Given the description of an element on the screen output the (x, y) to click on. 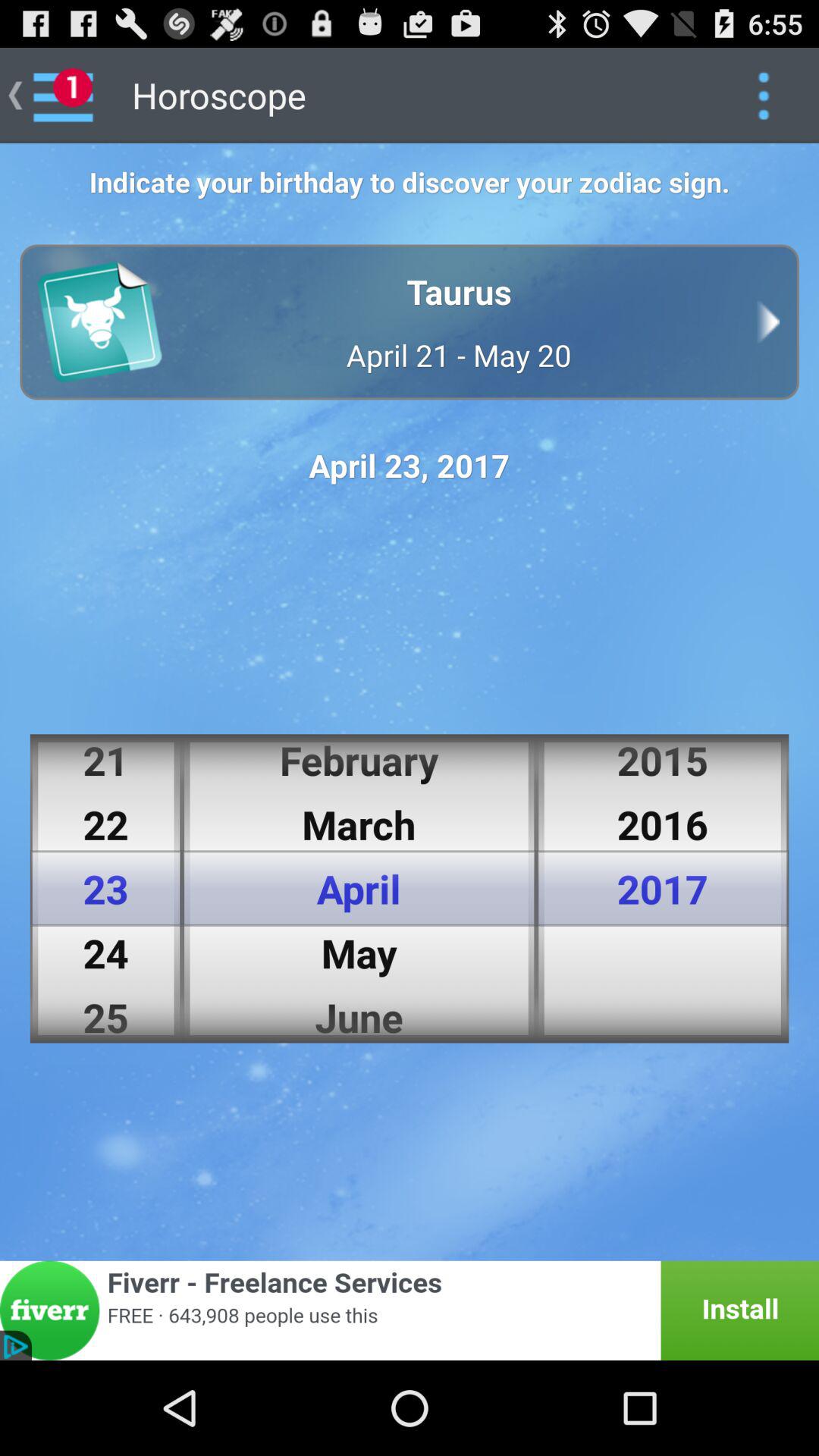
tap the icon at the bottom (409, 1310)
